Given the description of an element on the screen output the (x, y) to click on. 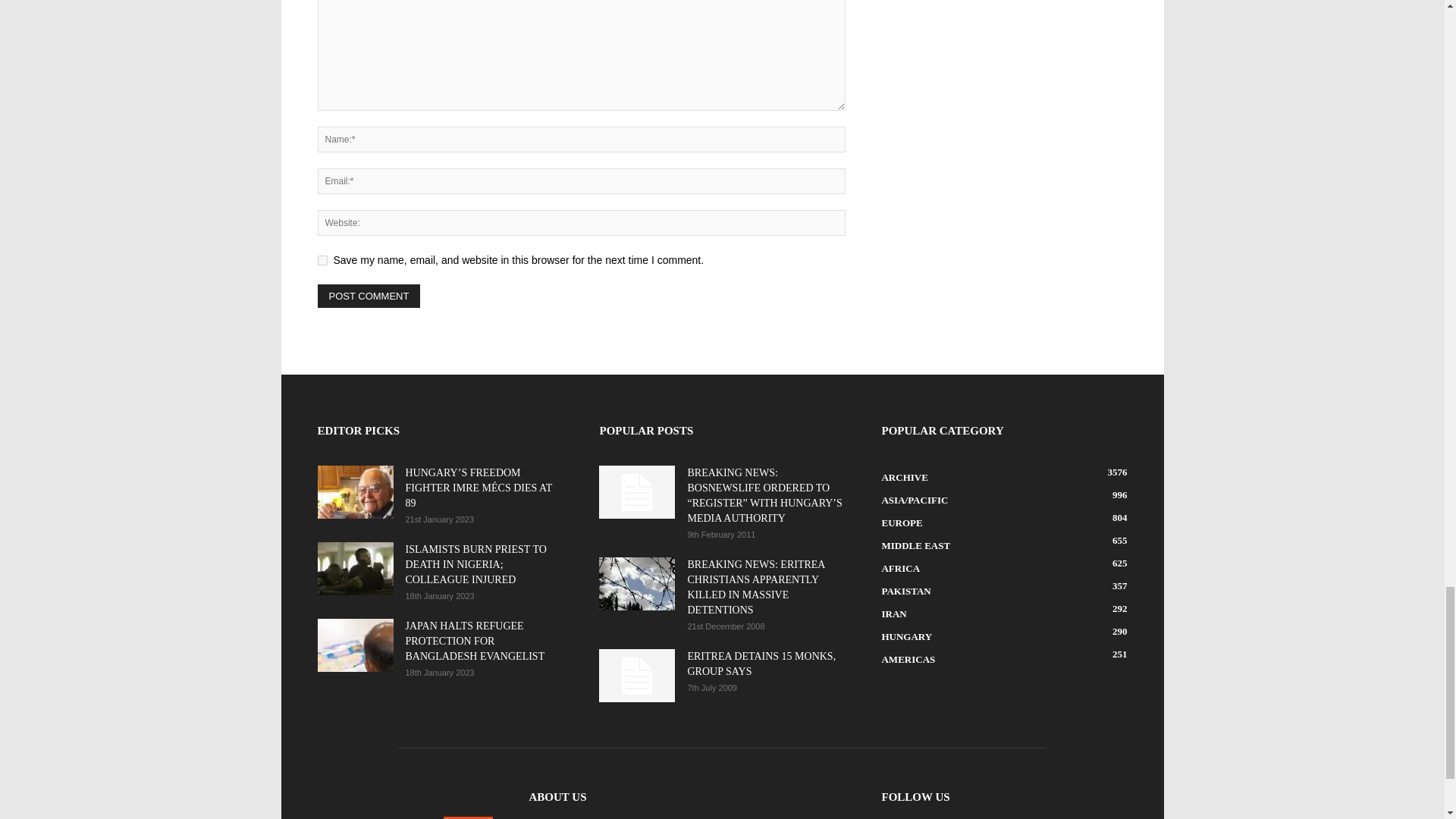
Post Comment (368, 295)
yes (321, 260)
